Given the description of an element on the screen output the (x, y) to click on. 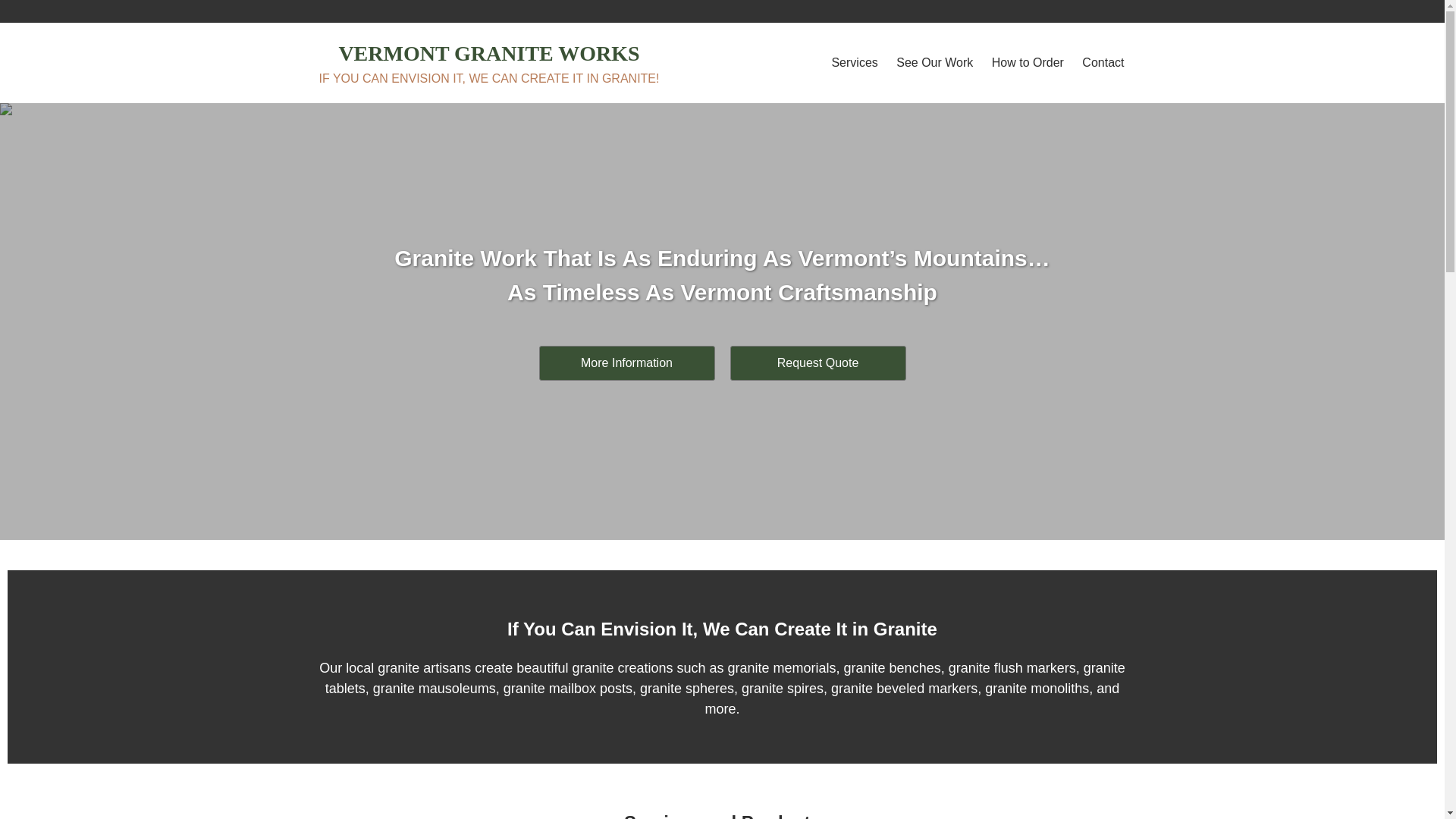
Services (853, 62)
See Our Work (934, 62)
More Information (626, 362)
Request Quote (817, 362)
How to Order (1027, 62)
Contact (1102, 62)
